Given the description of an element on the screen output the (x, y) to click on. 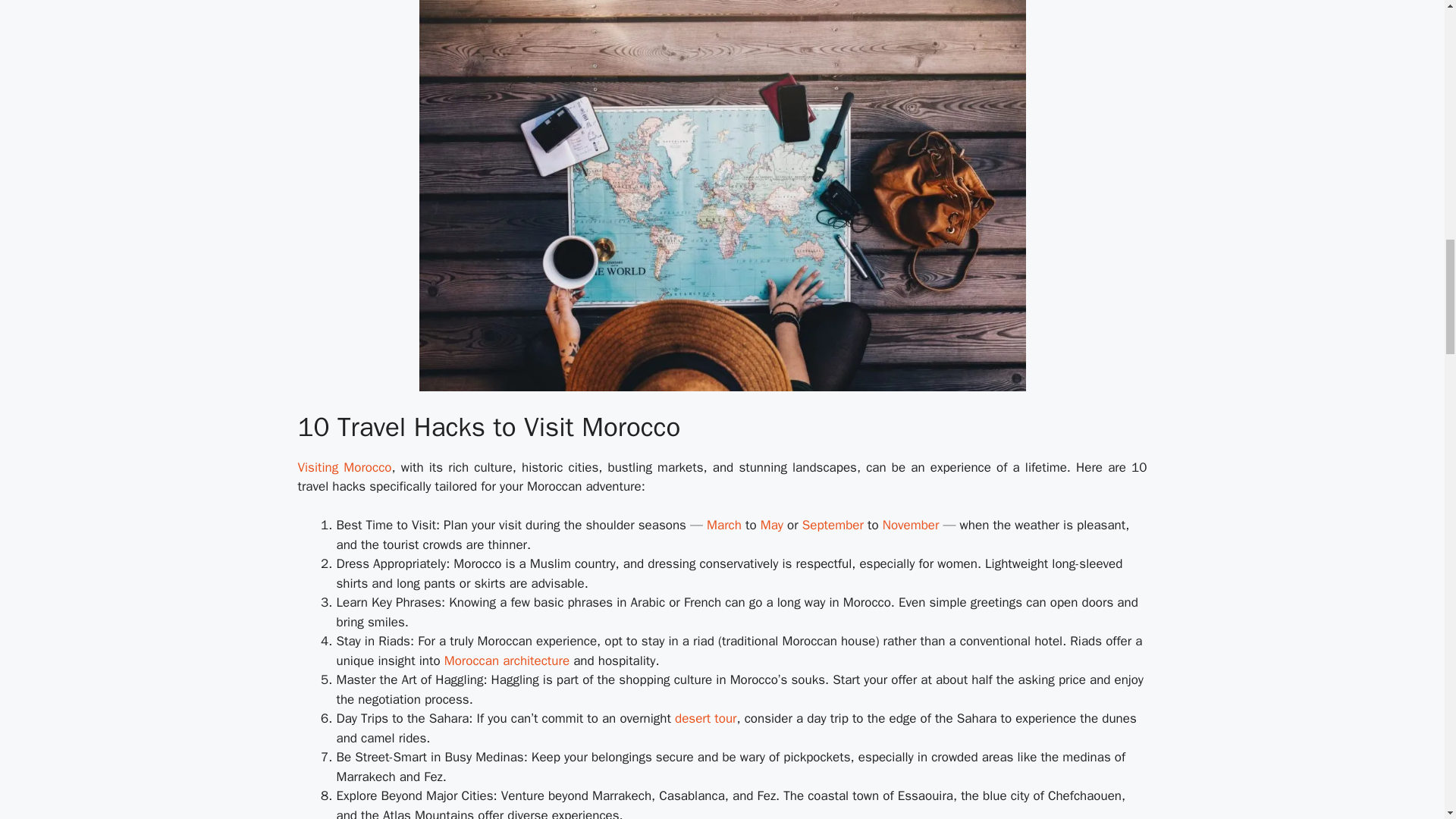
May (771, 524)
November (910, 524)
March (723, 524)
September (832, 524)
Visiting Morocco (344, 467)
